Given the description of an element on the screen output the (x, y) to click on. 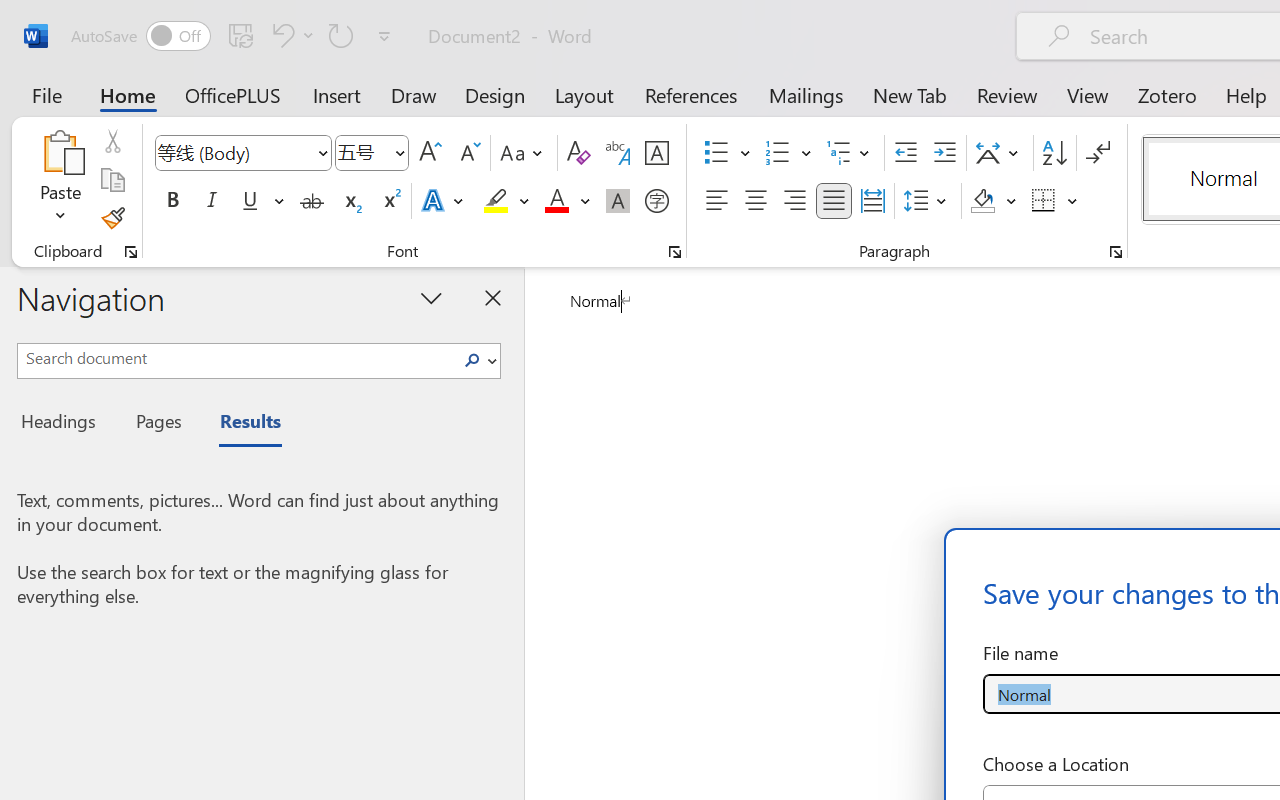
Asian Layout (1000, 153)
Bold (172, 201)
Search document (236, 358)
Open (399, 152)
Font Color Red (556, 201)
Strikethrough (312, 201)
Copy (112, 179)
Customize Quick Access Toolbar (384, 35)
Layout (584, 94)
Results (240, 424)
Subscript (350, 201)
Home (127, 94)
